Given the description of an element on the screen output the (x, y) to click on. 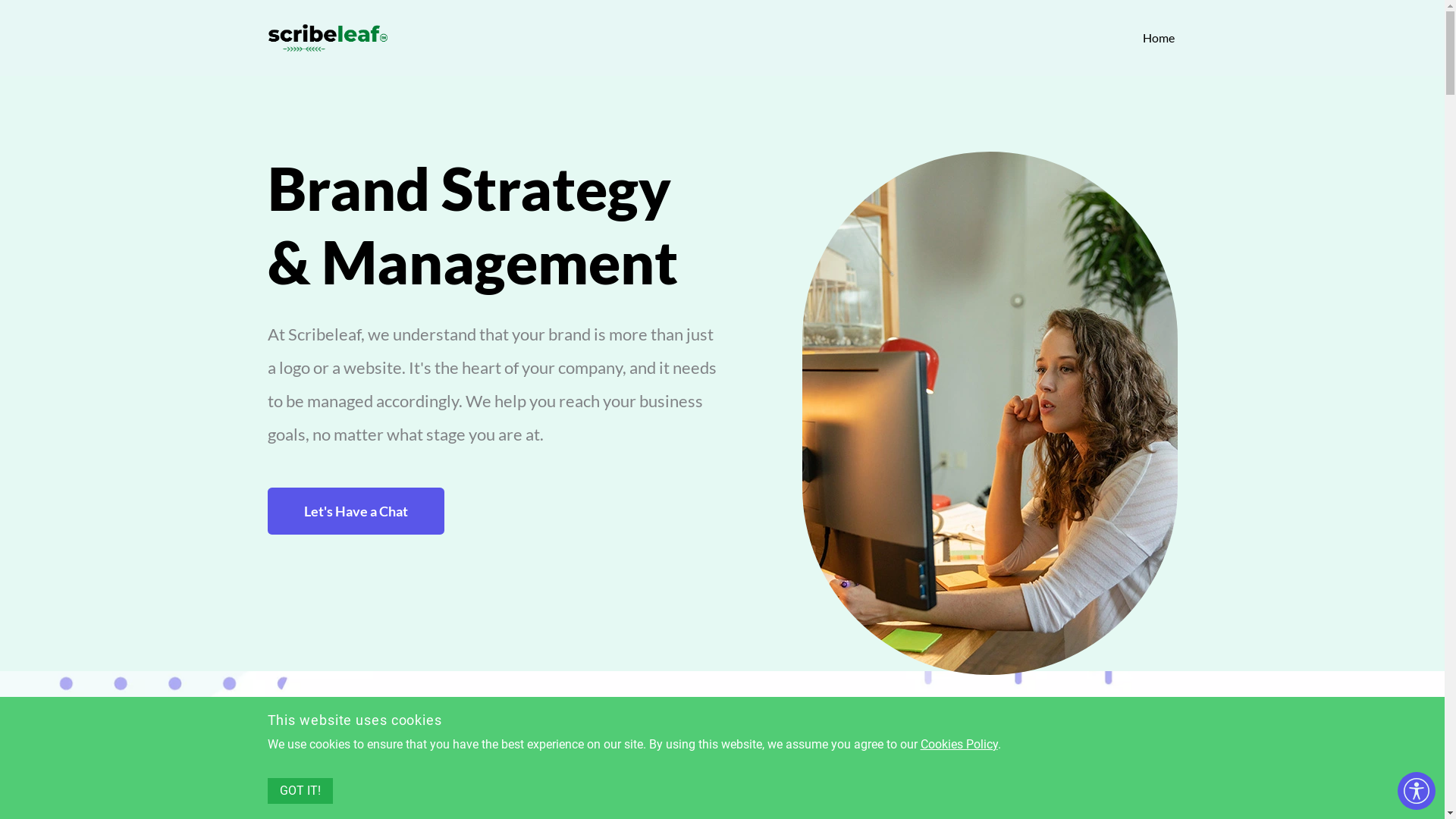
Let's Have a Chat Element type: text (354, 511)
Cookies Policy Element type: text (958, 744)
GOT IT! Element type: text (299, 790)
Home Element type: text (1159, 37)
